Given the description of an element on the screen output the (x, y) to click on. 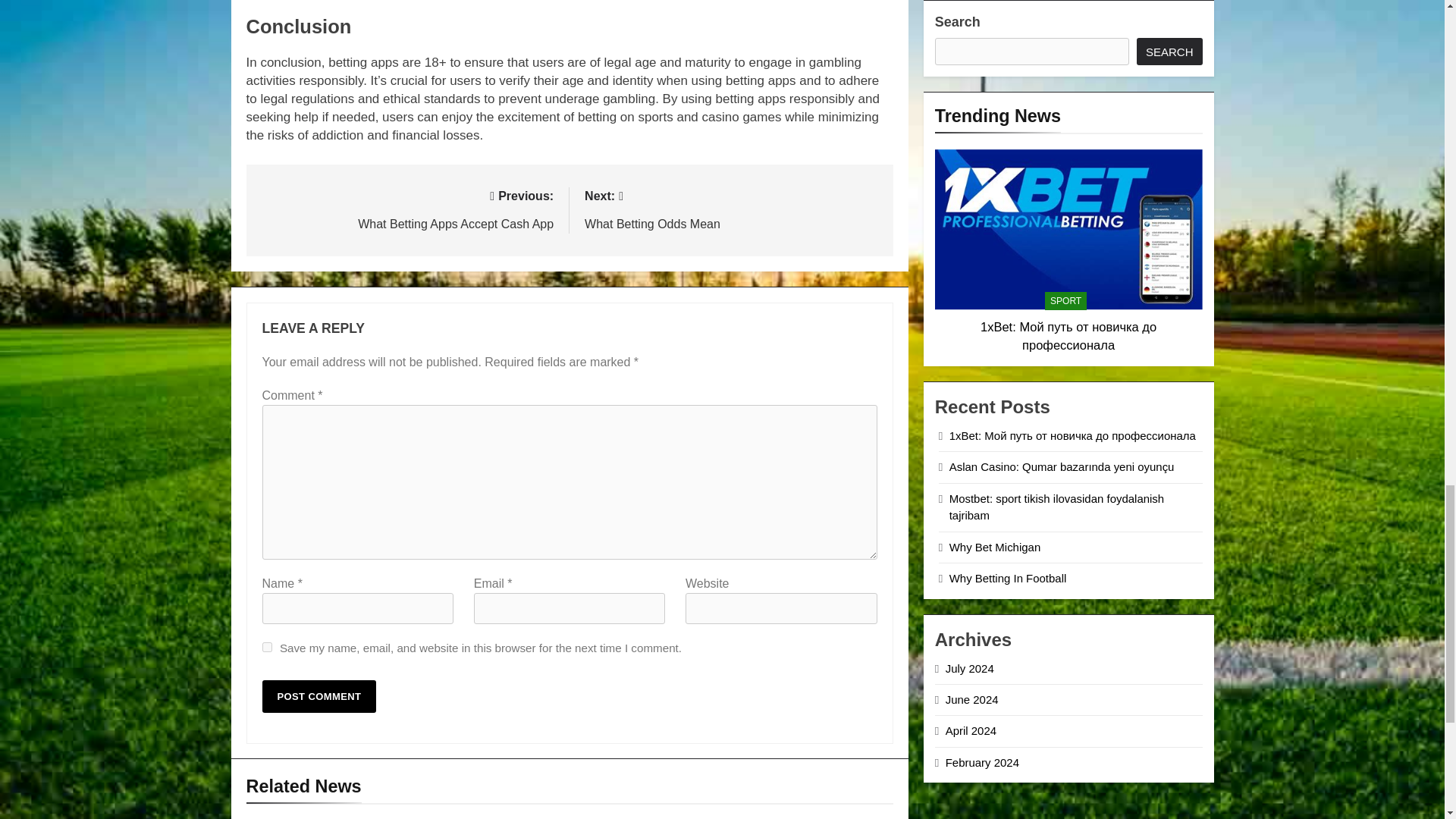
Post Comment (319, 696)
yes (731, 208)
Post Comment (267, 646)
